Given the description of an element on the screen output the (x, y) to click on. 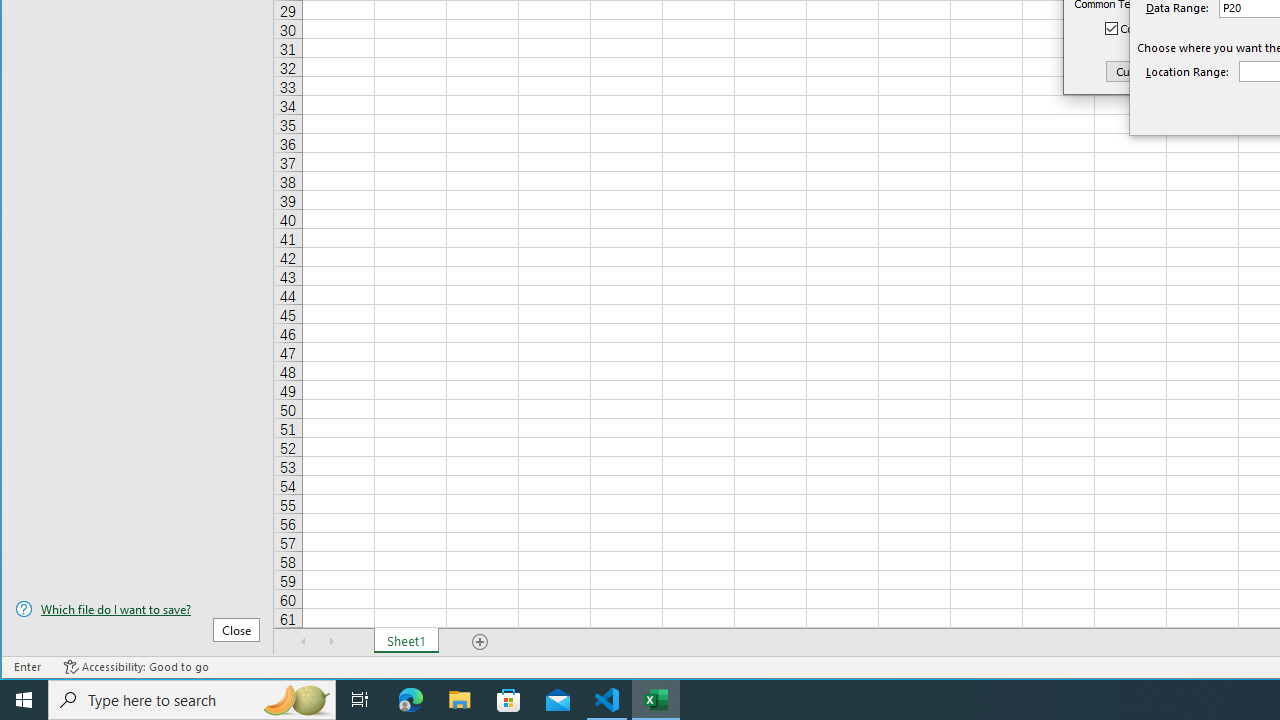
Convert common terms (1179, 28)
Custom Dictionary ... (1167, 70)
